Given the description of an element on the screen output the (x, y) to click on. 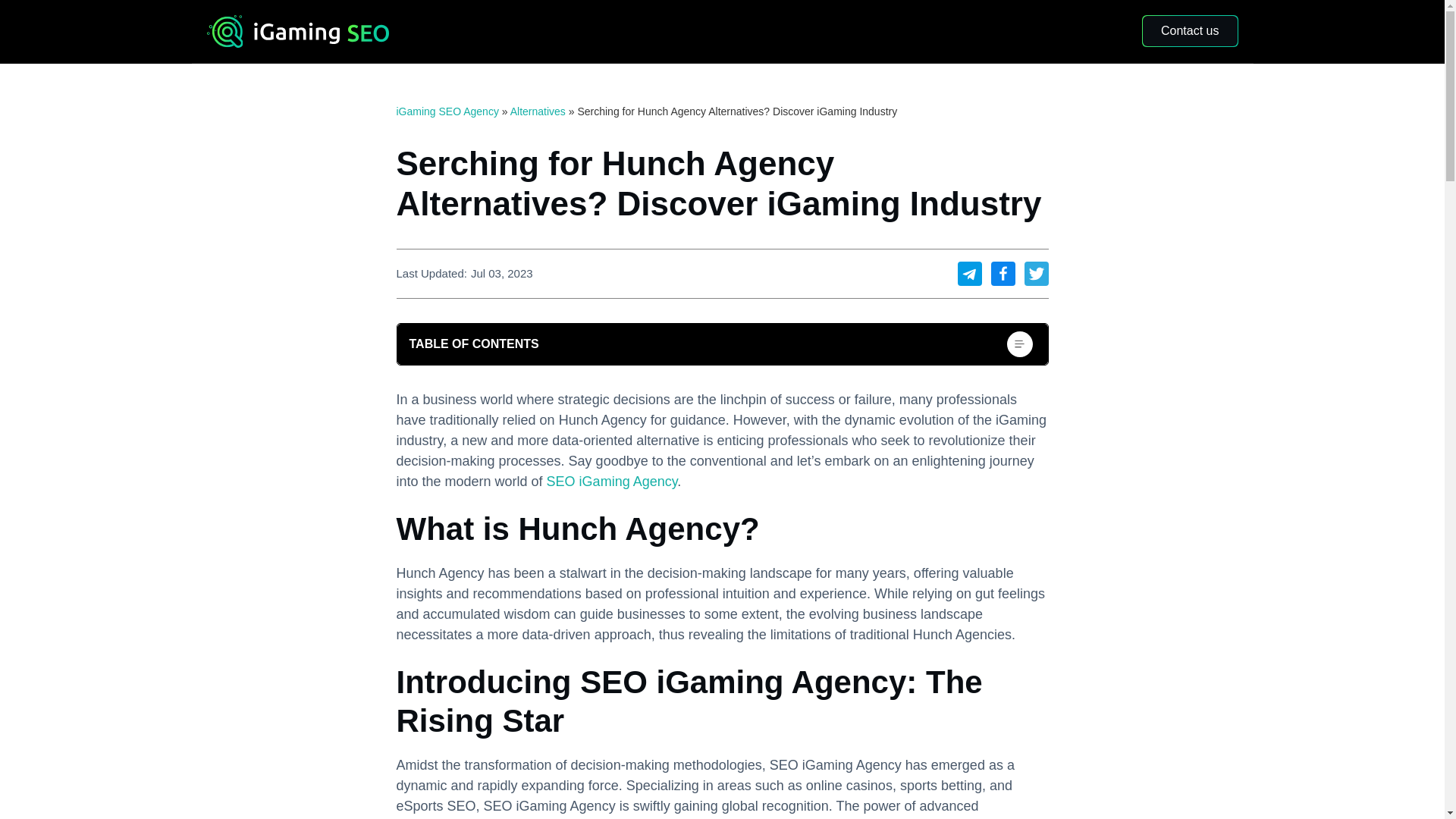
Alternatives (538, 111)
iGaming SEO Agency (446, 111)
Contact us (1189, 30)
SEO iGaming Agency (612, 481)
